Given the description of an element on the screen output the (x, y) to click on. 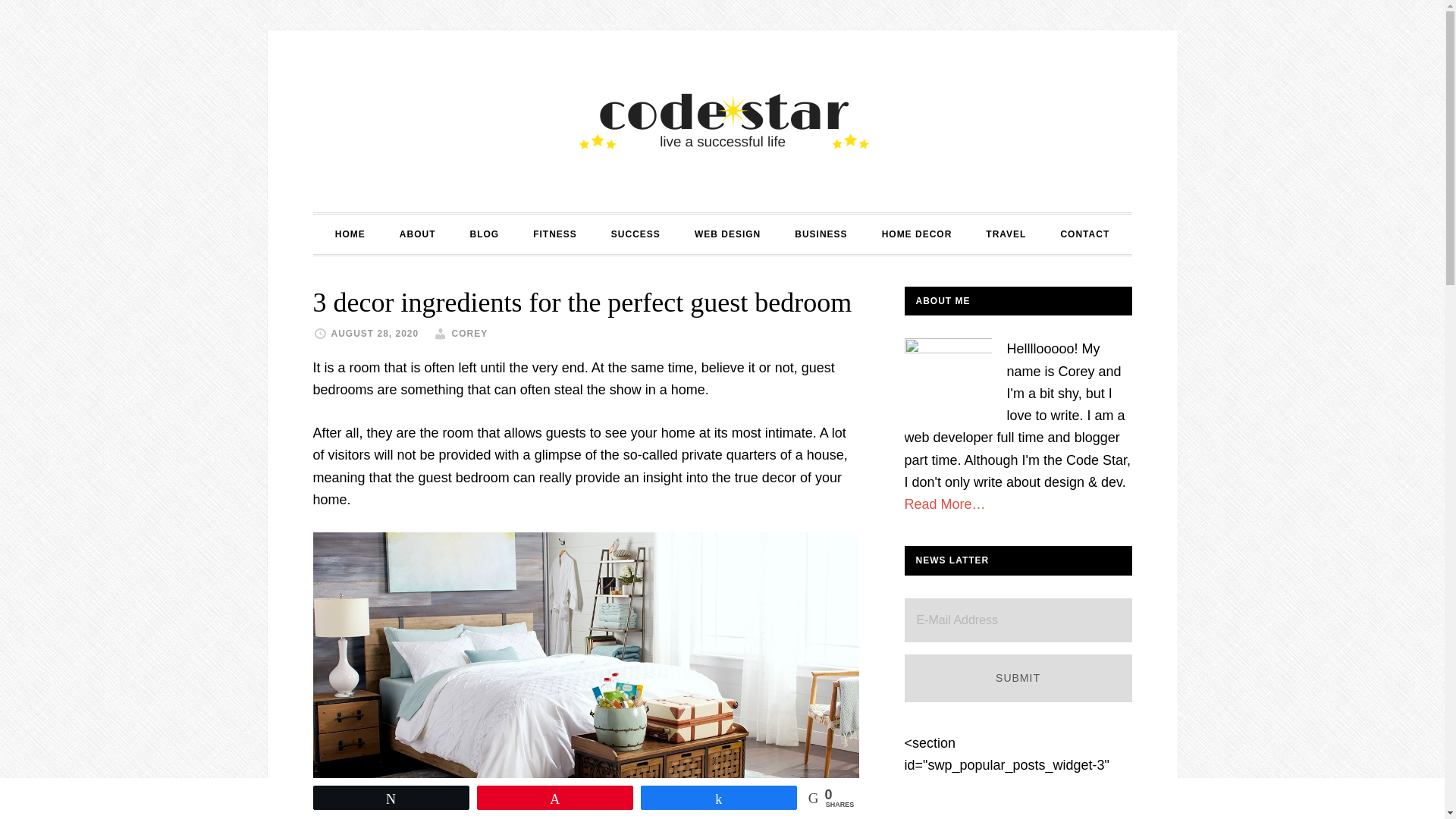
COREY (469, 333)
BLOG (483, 233)
BUSINESS (819, 233)
WEB DESIGN (727, 233)
submit (1017, 677)
TRAVEL (1006, 233)
CONTACT (1084, 233)
FITNESS (555, 233)
HOME (350, 233)
SUCCESS (635, 233)
